Given the description of an element on the screen output the (x, y) to click on. 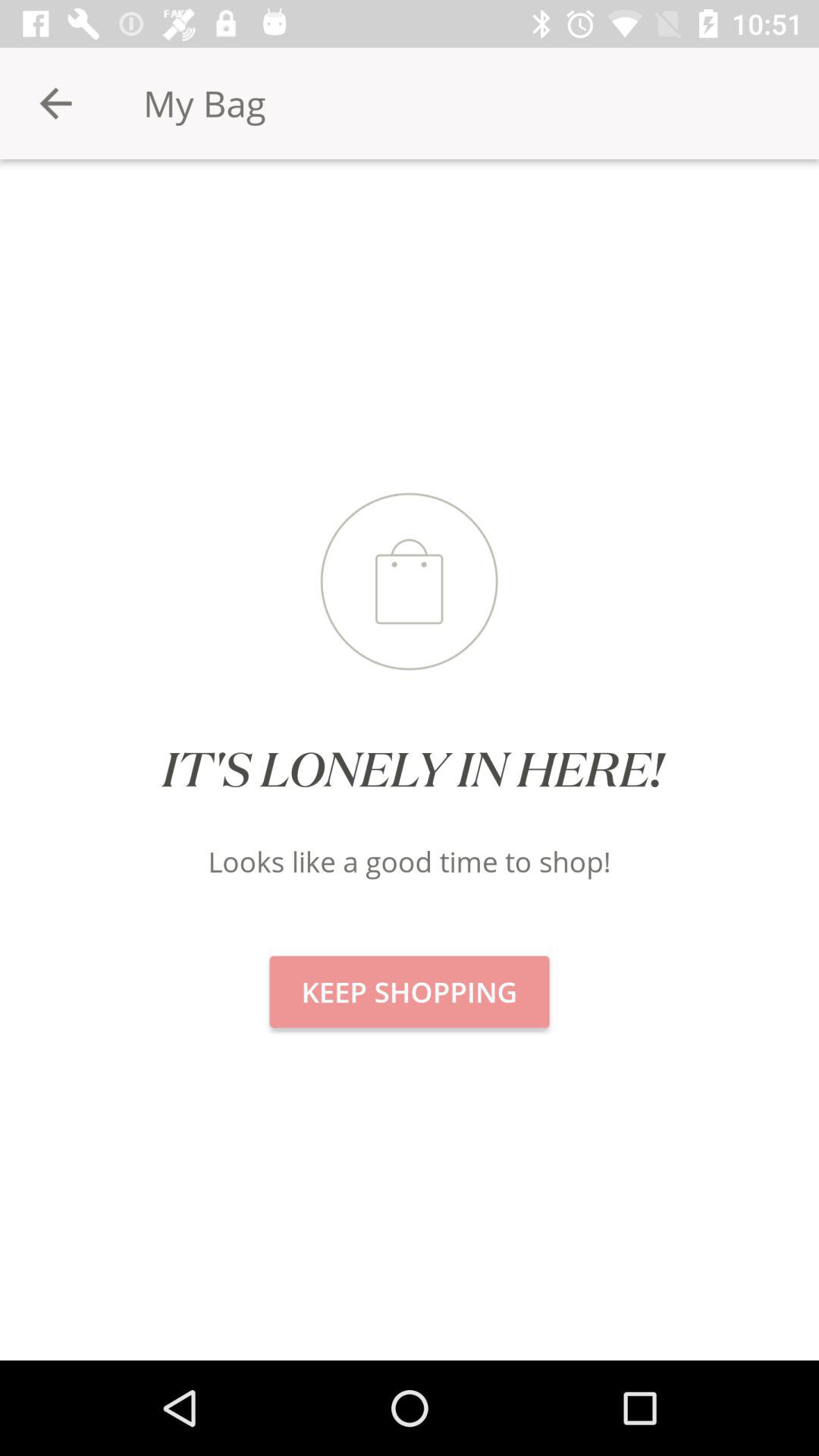
turn on icon to the left of my bag item (55, 103)
